Given the description of an element on the screen output the (x, y) to click on. 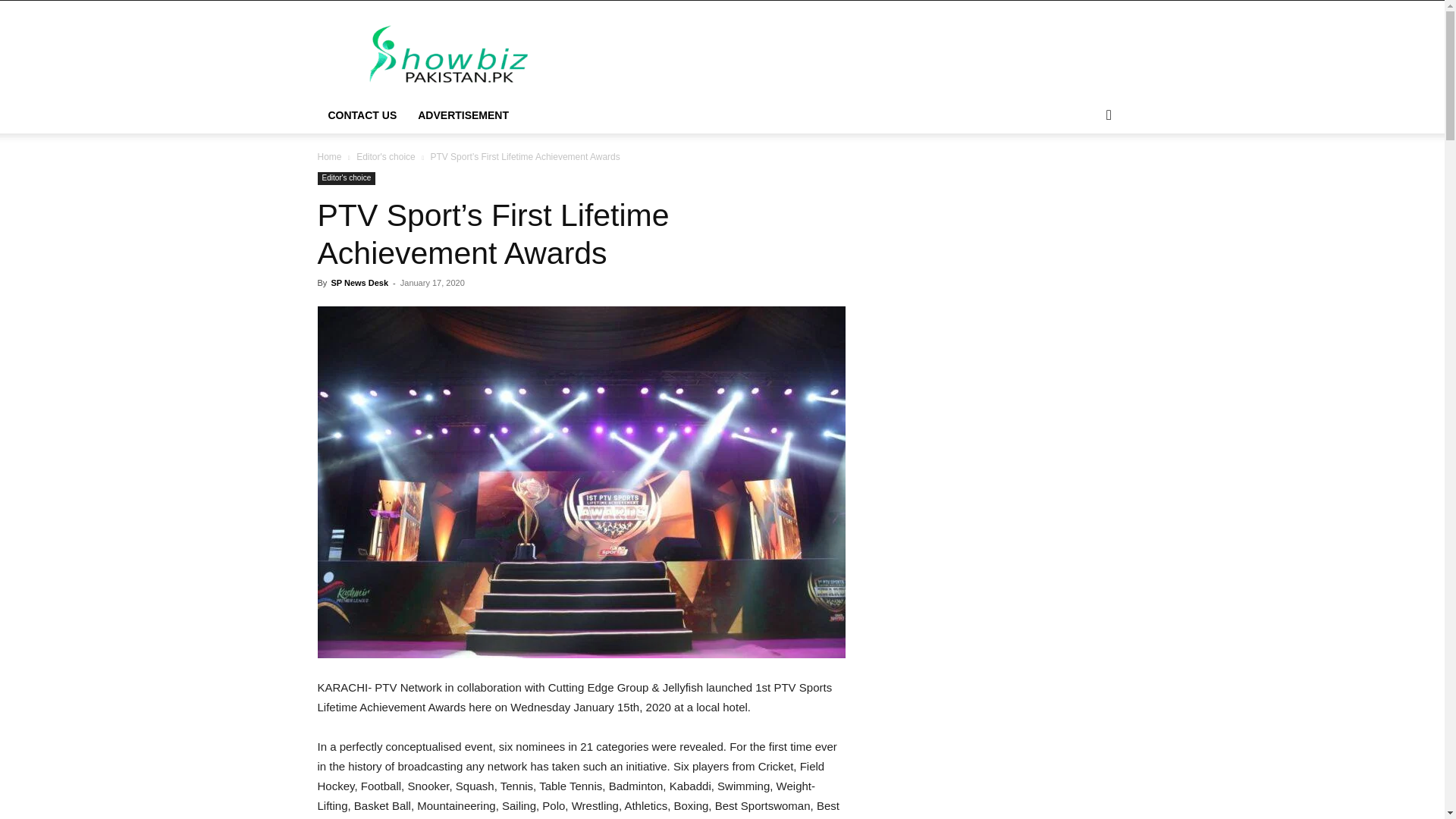
ADVERTISEMENT (463, 115)
SP News Desk (359, 282)
Editor's choice (385, 156)
CONTACT US (362, 115)
Search (1085, 175)
Home (328, 156)
View all posts in Editor's choice (385, 156)
Editor's choice (346, 178)
